Given the description of an element on the screen output the (x, y) to click on. 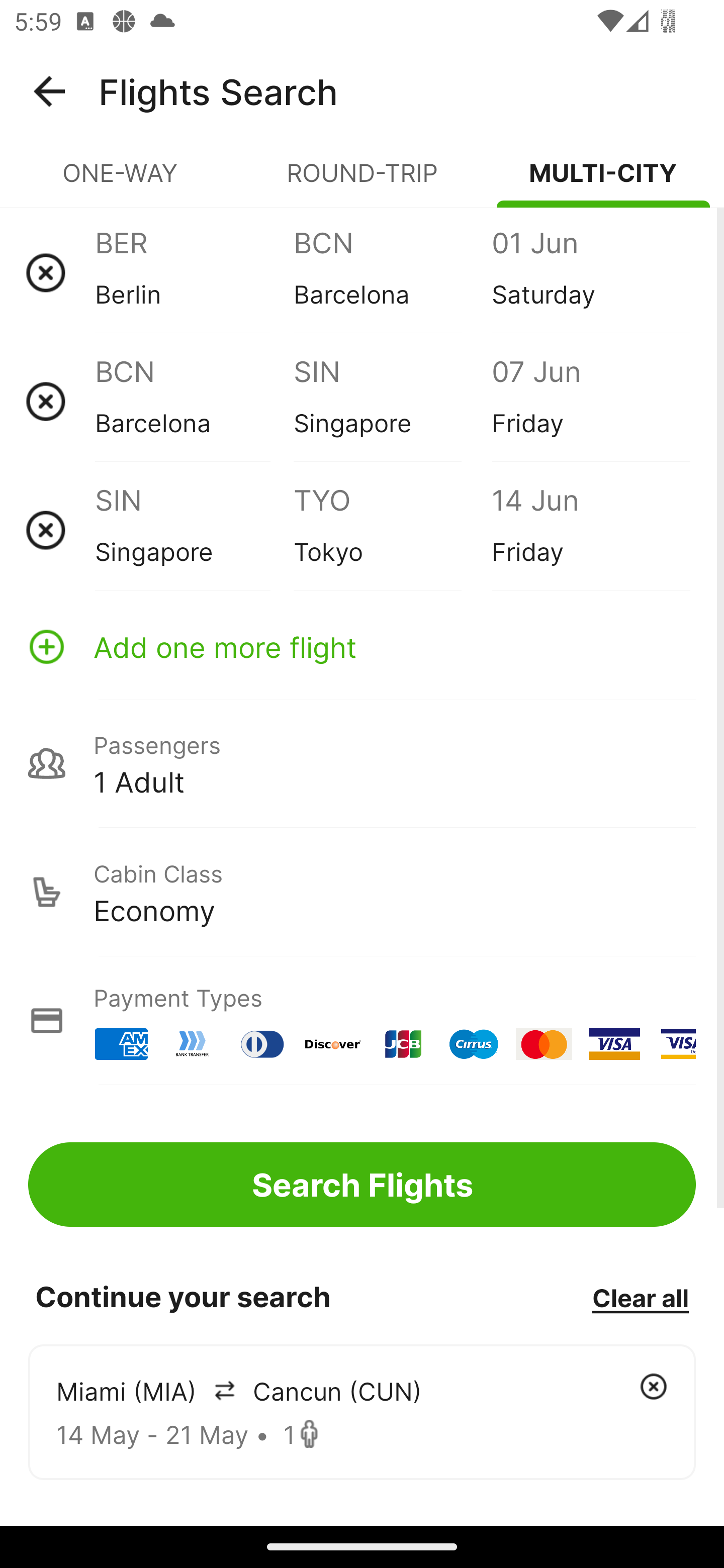
ONE-WAY (120, 180)
ROUND-TRIP (361, 180)
MULTI-CITY (603, 180)
BER Berlin (193, 272)
BCN Barcelona (392, 272)
01 Jun Saturday (590, 272)
BCN Barcelona (193, 401)
SIN Singapore (392, 401)
07 Jun Friday (590, 401)
SIN Singapore (193, 529)
TYO Tokyo (392, 529)
14 Jun Friday (590, 529)
Add one more flight (362, 646)
Passengers 1 Adult (362, 762)
Cabin Class Economy (362, 891)
Payment Types (362, 1020)
Search Flights (361, 1184)
Clear all (640, 1297)
